Given the description of an element on the screen output the (x, y) to click on. 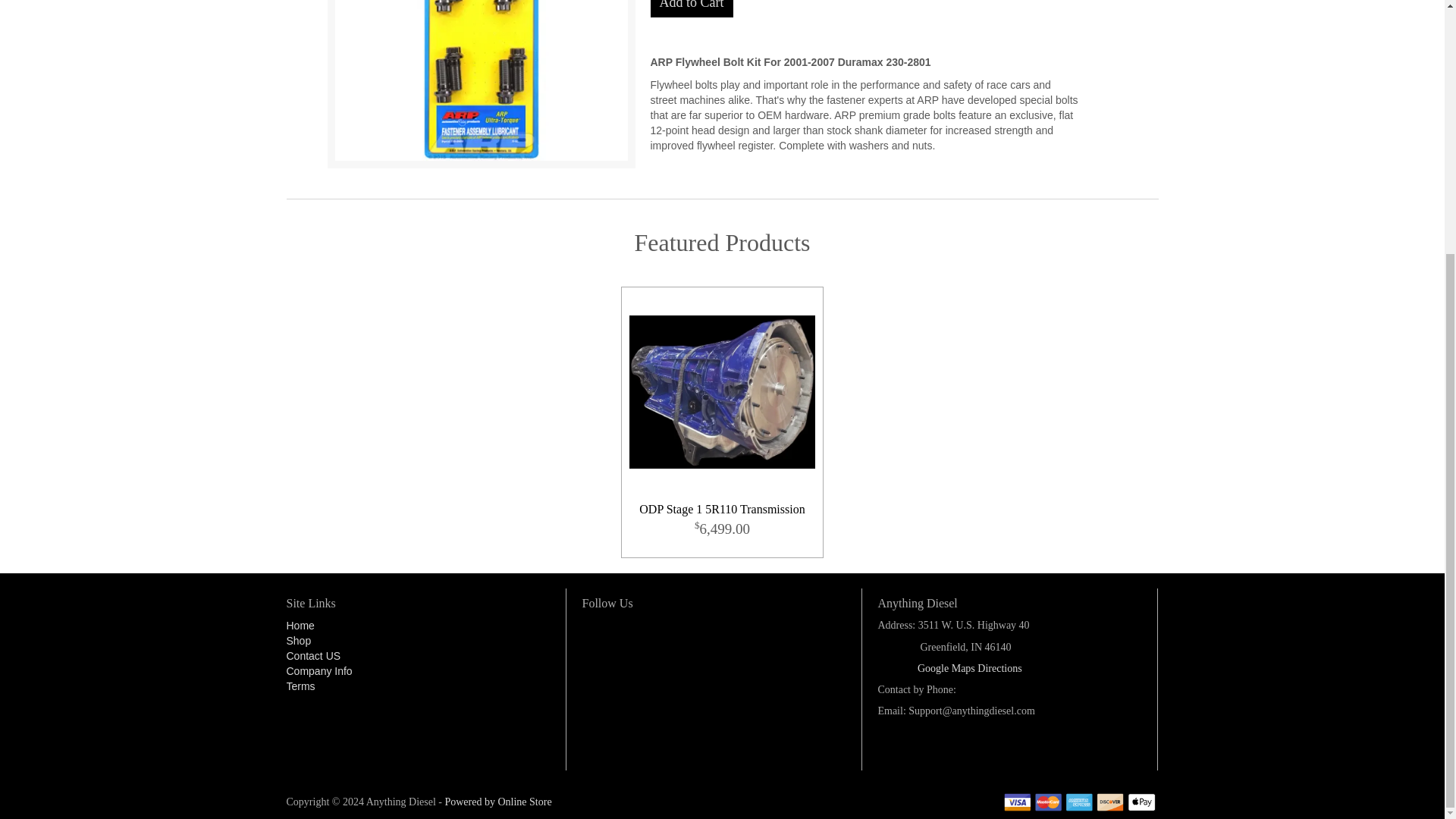
Terms (300, 686)
Contact US (313, 655)
Company Info (319, 671)
Add to Cart (691, 8)
Powered by Online Store (497, 801)
Google Maps Directions (969, 668)
Shop (298, 640)
Add to Cart (691, 8)
Home (300, 625)
